Given the description of an element on the screen output the (x, y) to click on. 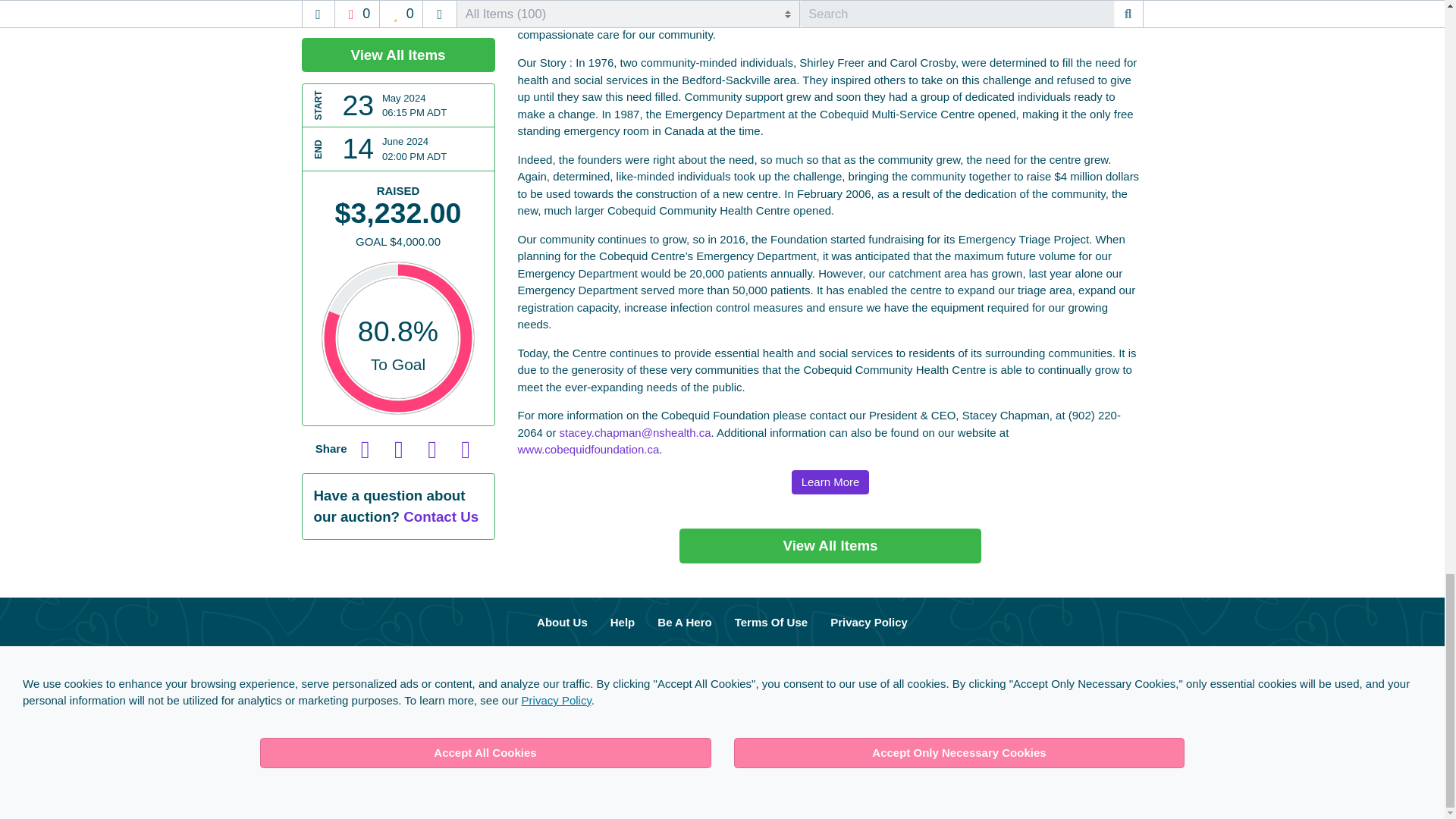
www.cobequidfoundation.ca (587, 449)
About Us (561, 623)
Terms Of Use (770, 623)
Help (622, 623)
Learn More (829, 482)
Privacy Policy (868, 623)
View All Items (830, 545)
Be A Hero (684, 623)
